Given the description of an element on the screen output the (x, y) to click on. 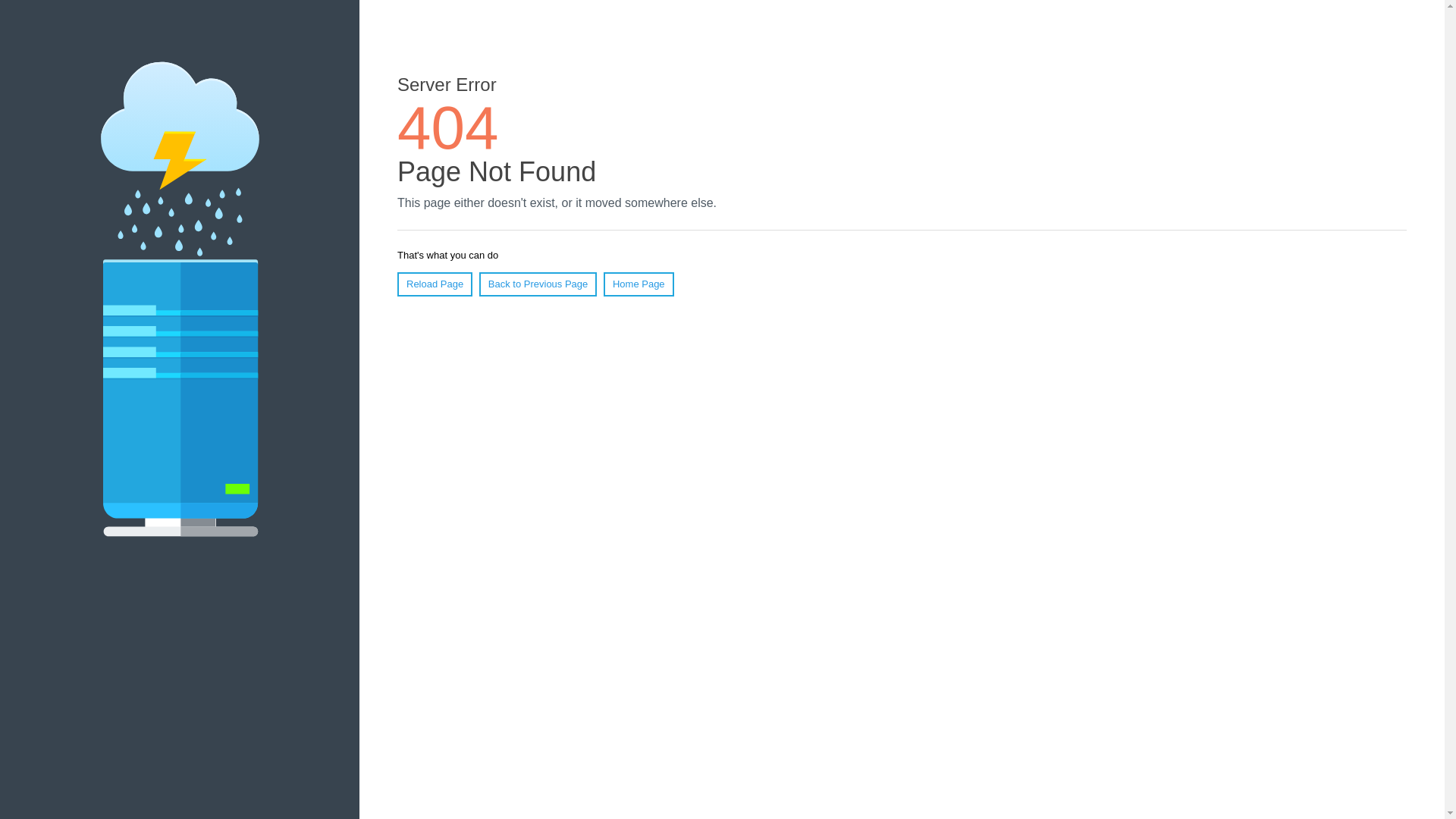
Back to Previous Page Element type: text (538, 284)
Reload Page Element type: text (434, 284)
Home Page Element type: text (638, 284)
